Given the description of an element on the screen output the (x, y) to click on. 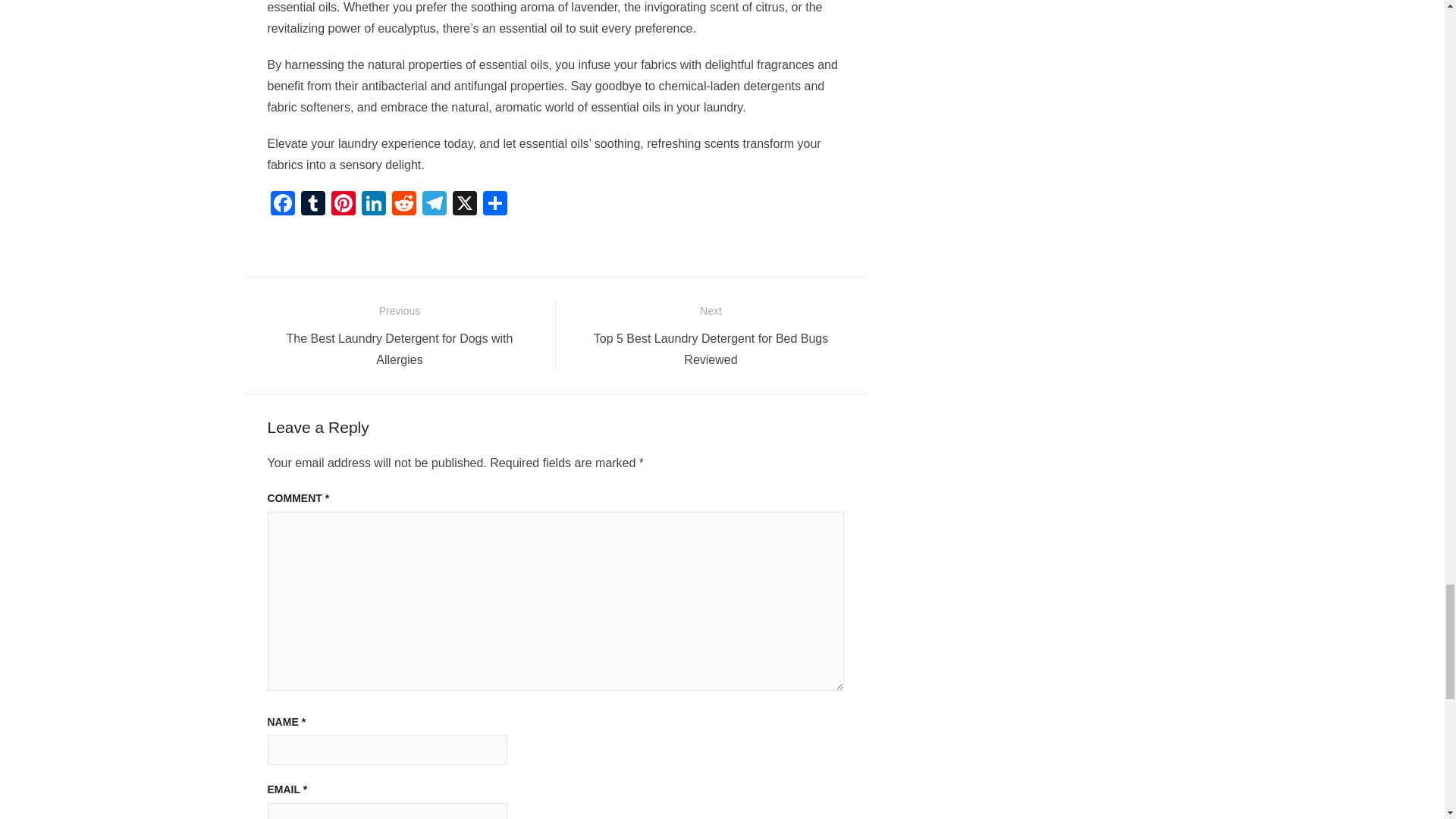
Pinterest (342, 204)
LinkedIn (373, 204)
Facebook (281, 204)
Tumblr (312, 204)
Telegram (433, 204)
Reddit (403, 204)
X (463, 204)
